Given the description of an element on the screen output the (x, y) to click on. 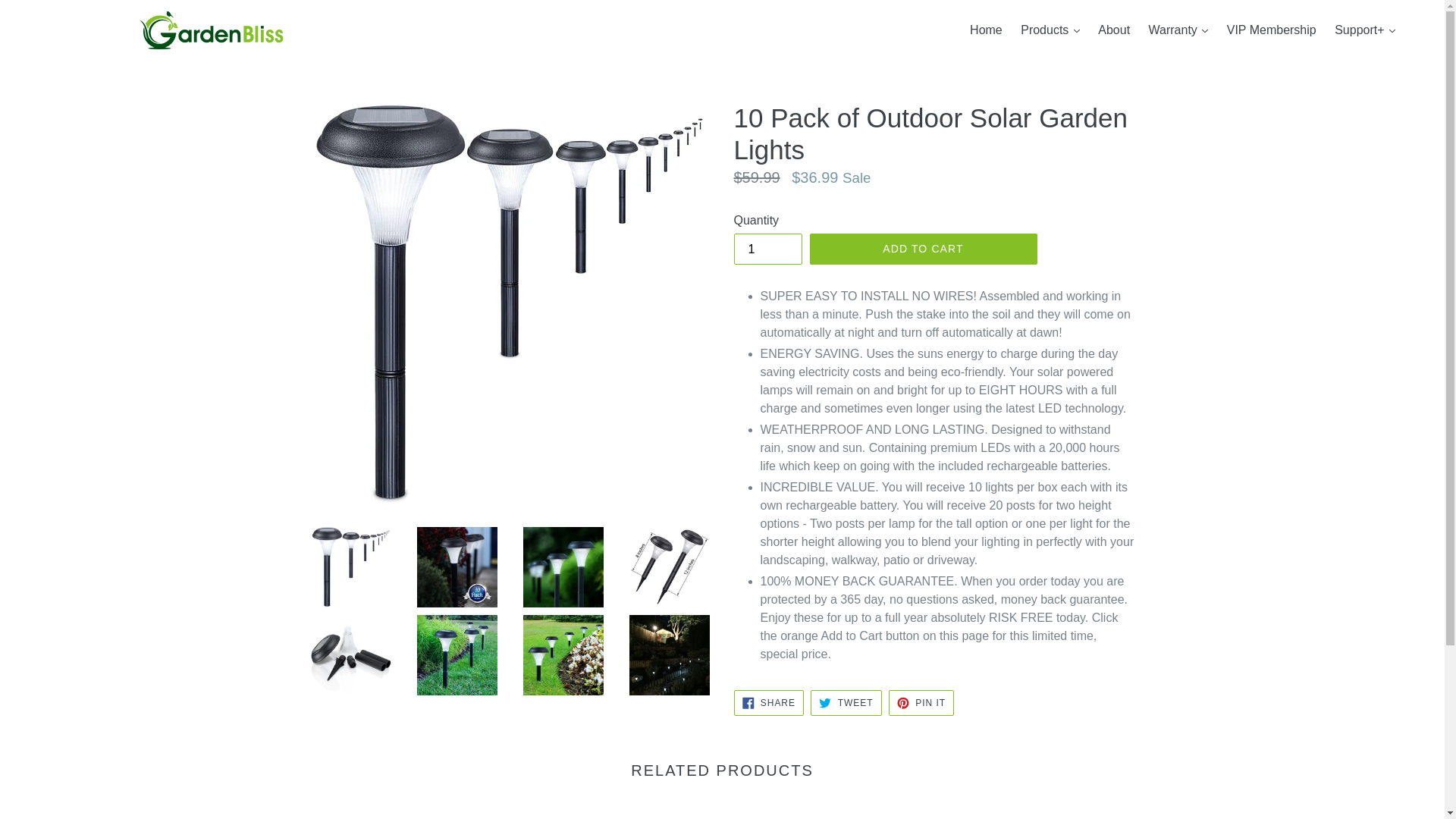
Home (986, 29)
1 (767, 248)
Share on Facebook (768, 702)
Tweet on Twitter (845, 702)
Pin on Pinterest (920, 702)
VIP Membership (1271, 29)
About (1113, 29)
